Given the description of an element on the screen output the (x, y) to click on. 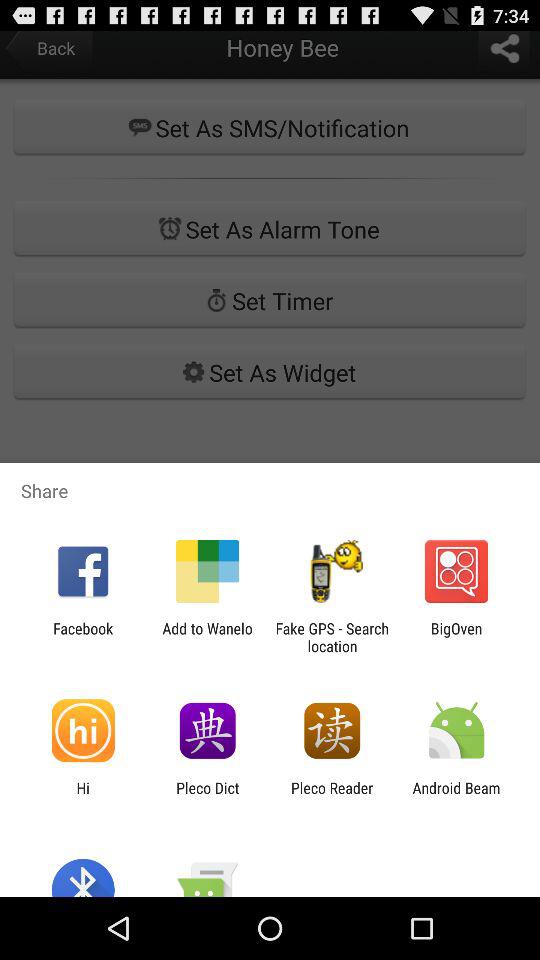
click the item next to the add to wanelo item (332, 637)
